Given the description of an element on the screen output the (x, y) to click on. 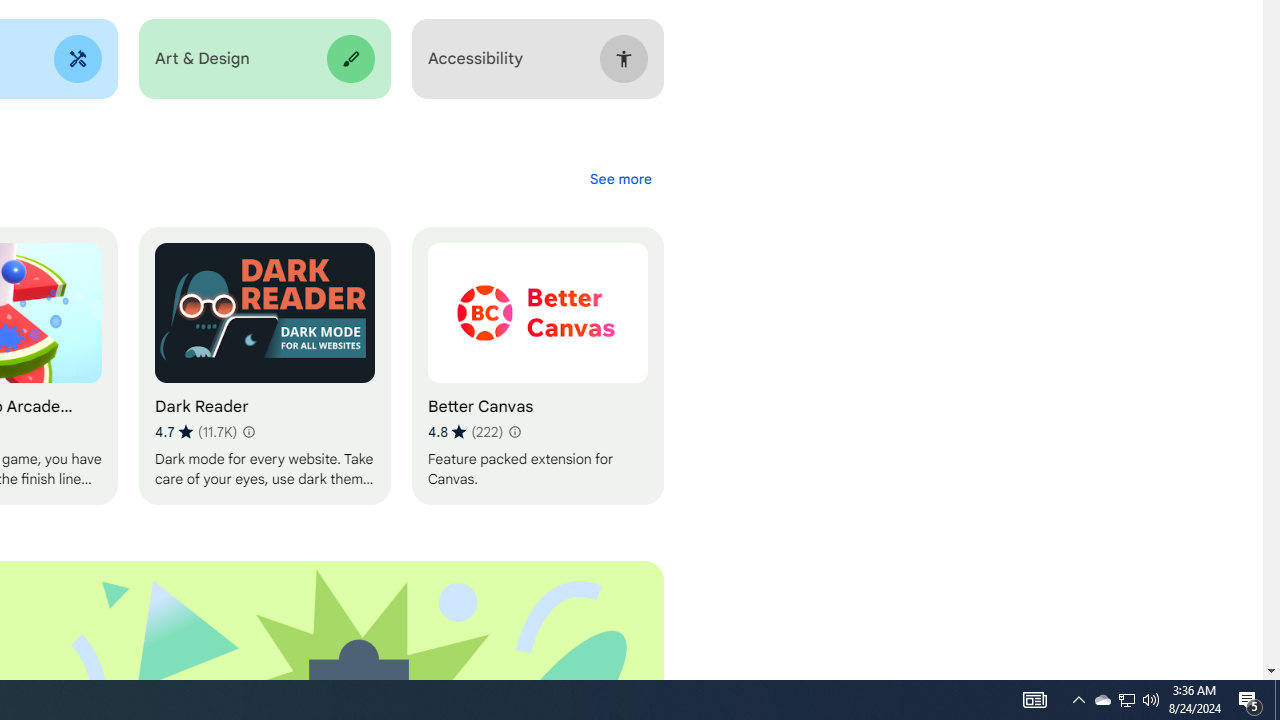
Accessibility (537, 59)
Learn more about results and reviews "Dark Reader" (247, 431)
See more personalized recommendations (620, 178)
Learn more about results and reviews "Better Canvas" (513, 431)
Art & Design (264, 59)
Better Canvas (537, 366)
Average rating 4.8 out of 5 stars. 222 ratings. (465, 431)
Average rating 4.7 out of 5 stars. 11.7K ratings. (195, 431)
Dark Reader (264, 366)
